Given the description of an element on the screen output the (x, y) to click on. 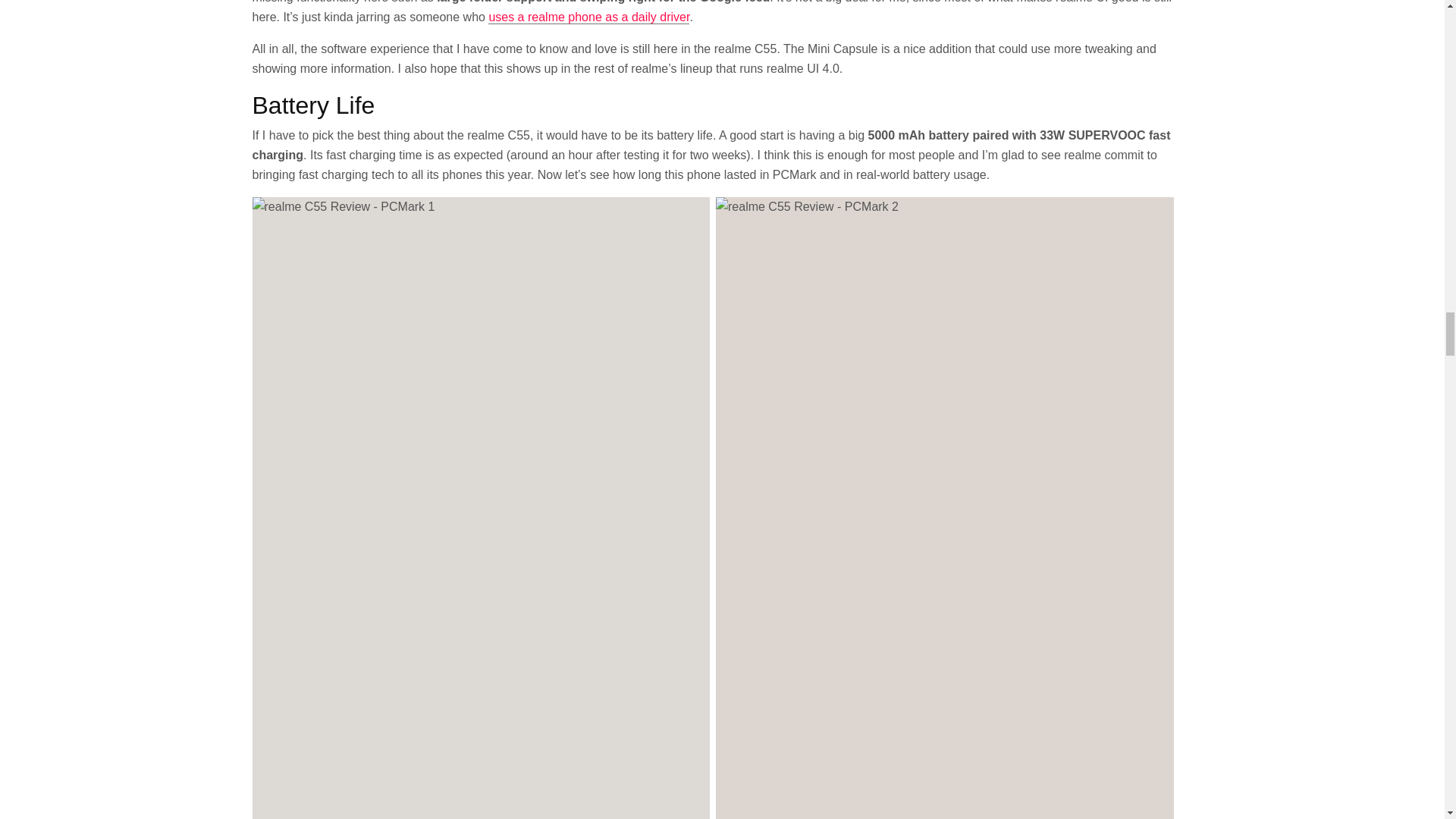
uses a realme phone as a daily driver (587, 17)
